Given the description of an element on the screen output the (x, y) to click on. 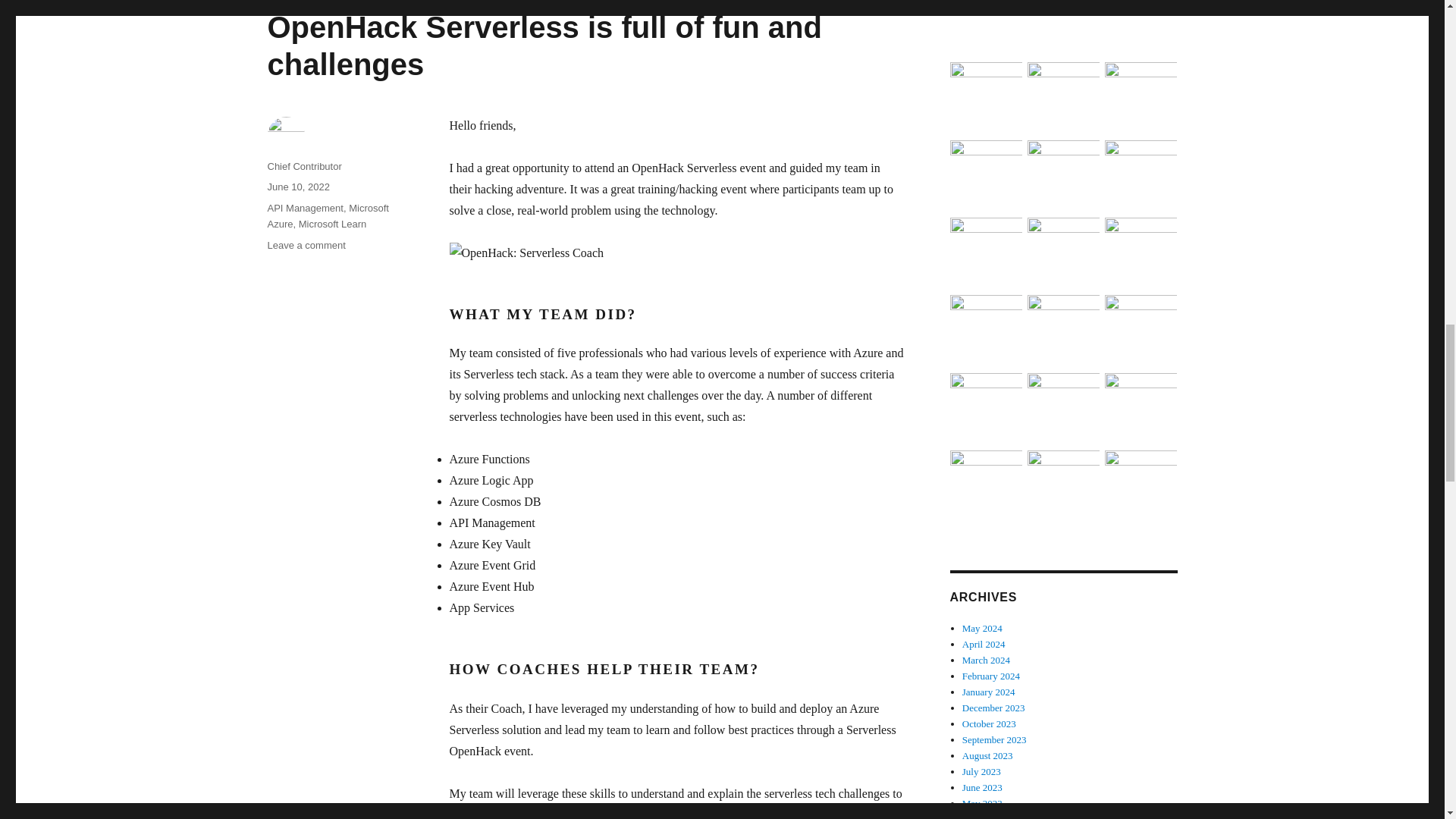
OpenHack Serverless is full of fun and challenges (543, 45)
June 10, 2022 (297, 186)
Microsoft Azure (327, 216)
Microsoft Learn (332, 224)
API Management (304, 207)
Chief Contributor (303, 165)
